Given the description of an element on the screen output the (x, y) to click on. 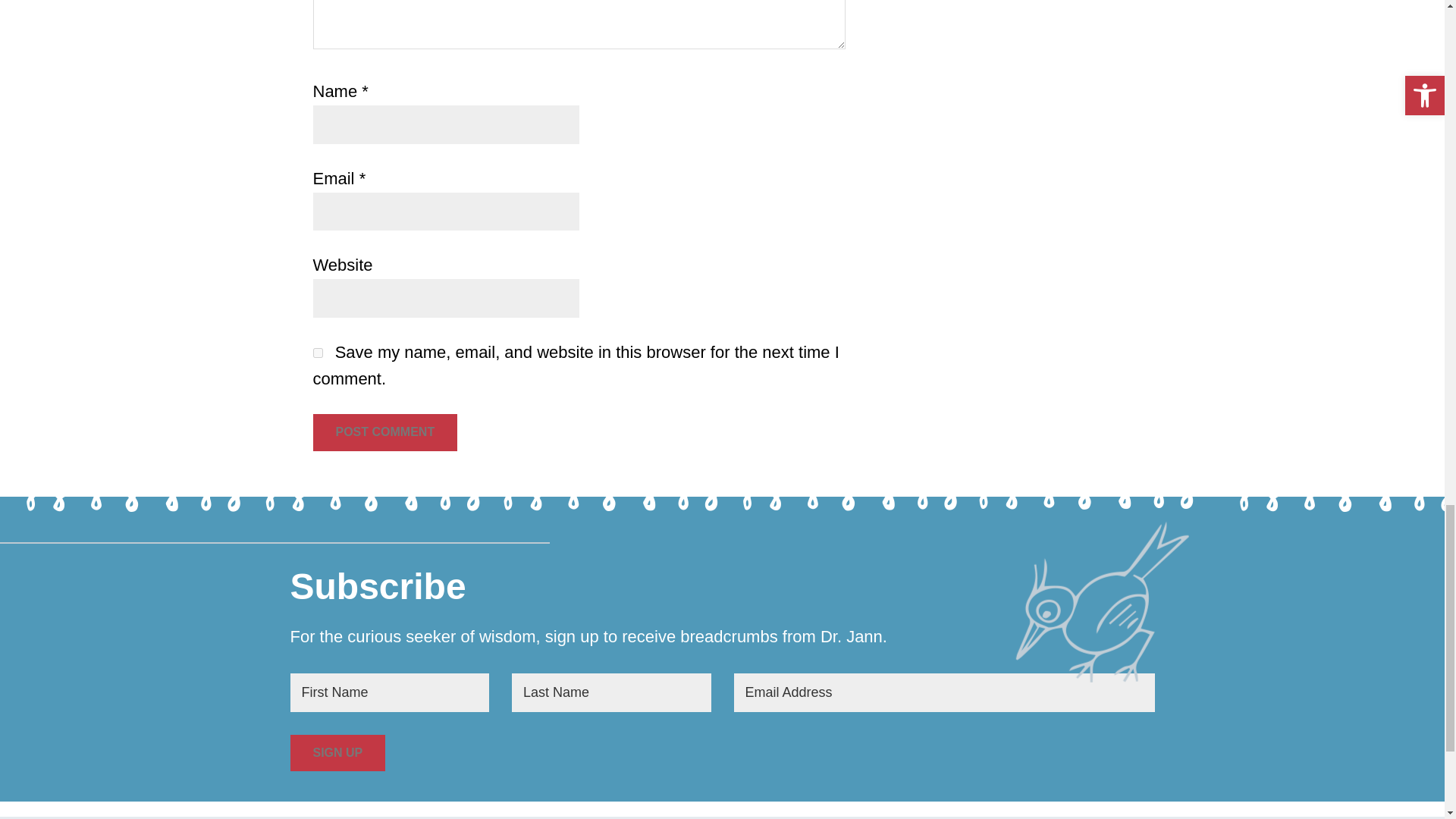
Post Comment (385, 432)
yes (317, 352)
